Given the description of an element on the screen output the (x, y) to click on. 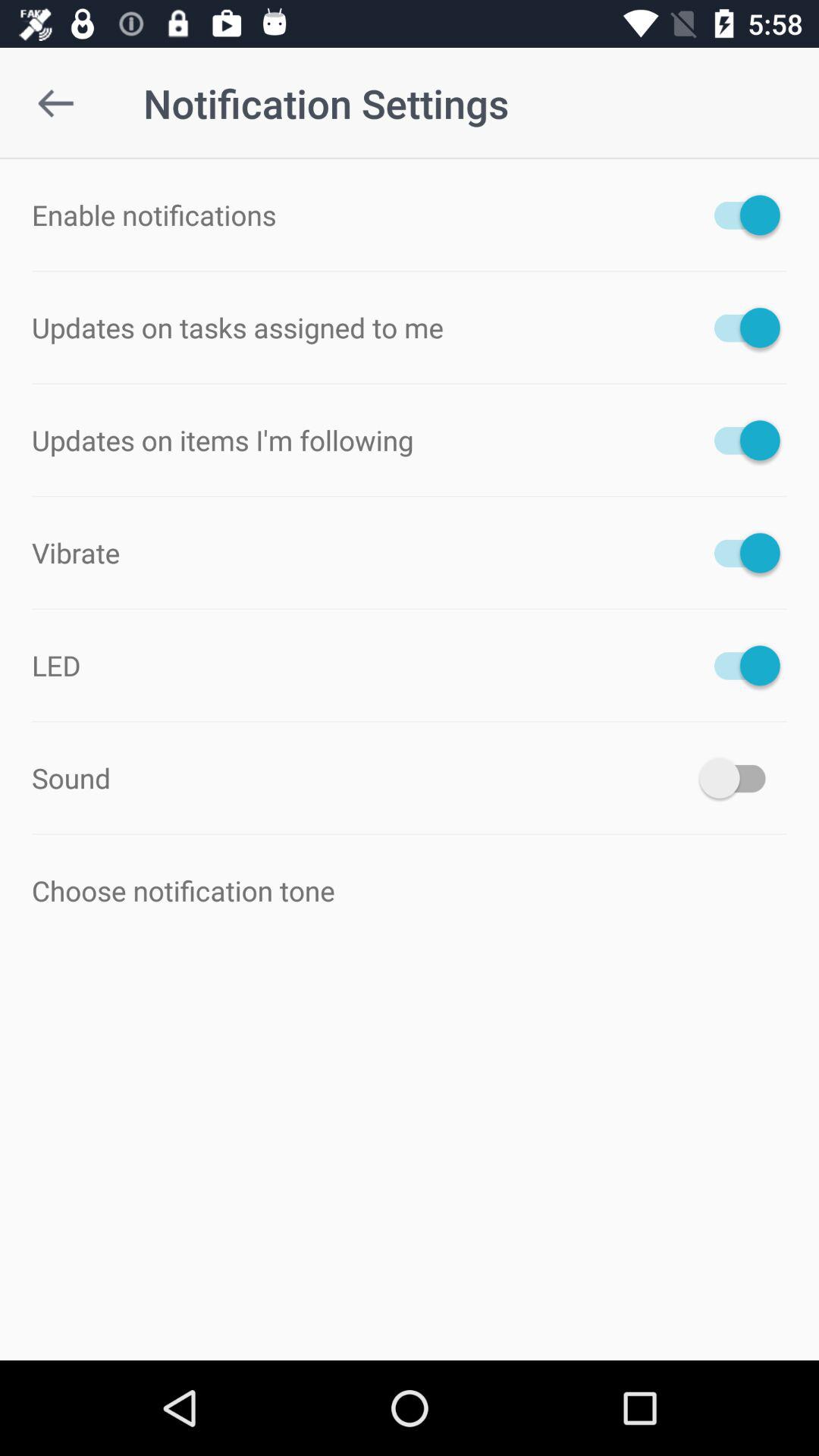
turn off icon next to the led icon (739, 665)
